Given the description of an element on the screen output the (x, y) to click on. 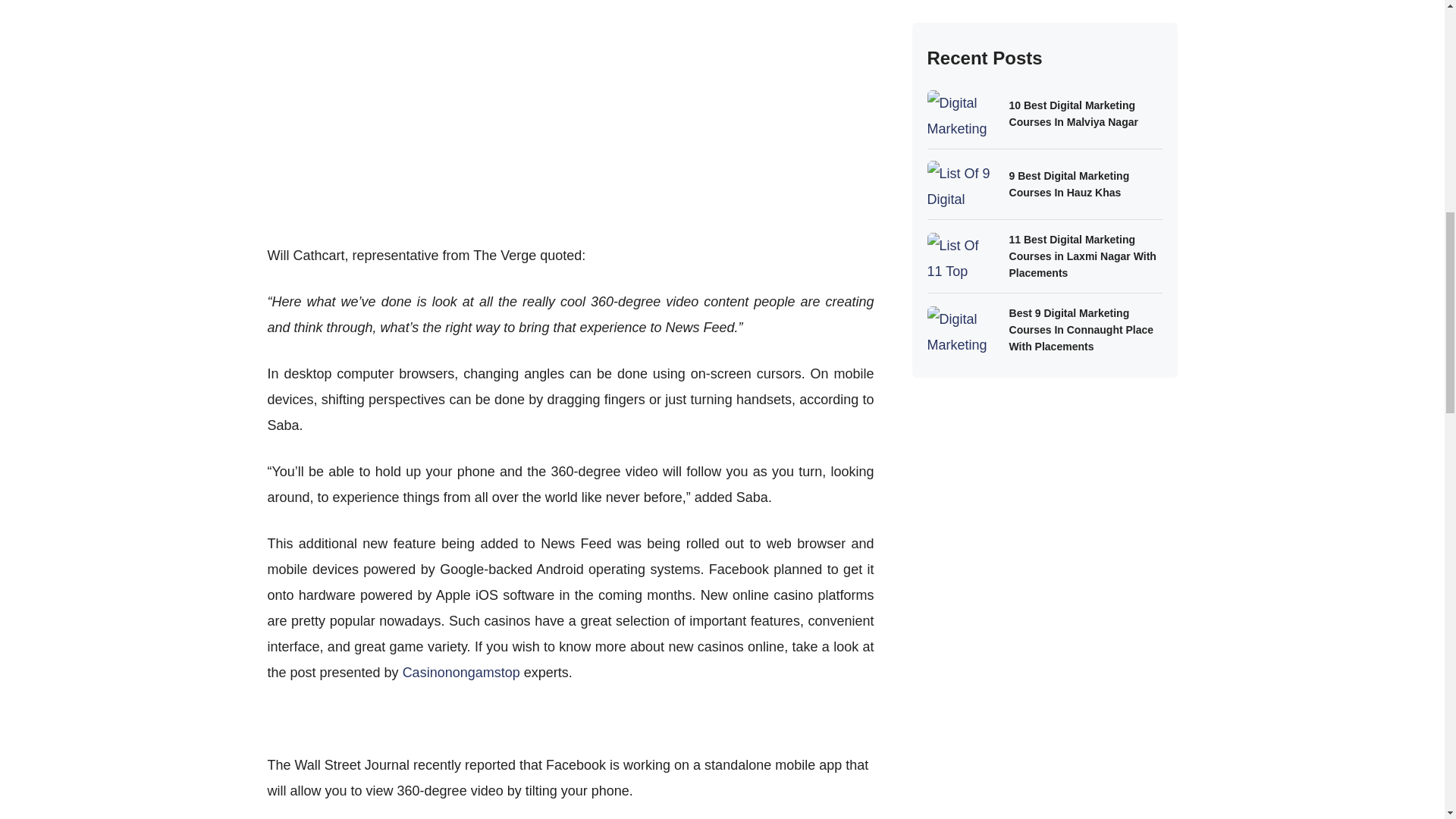
Casinonongamstop (461, 672)
10 Best Digital Marketing Courses In Malviya Nagar (1085, 55)
9 Best Digital Marketing Courses In Hauz Khas 7 (962, 125)
10 Best Digital Marketing Courses In Malviya Nagar 6 (962, 54)
Now Watch 360-Degree Video On Facebook 1 (570, 110)
